Given the description of an element on the screen output the (x, y) to click on. 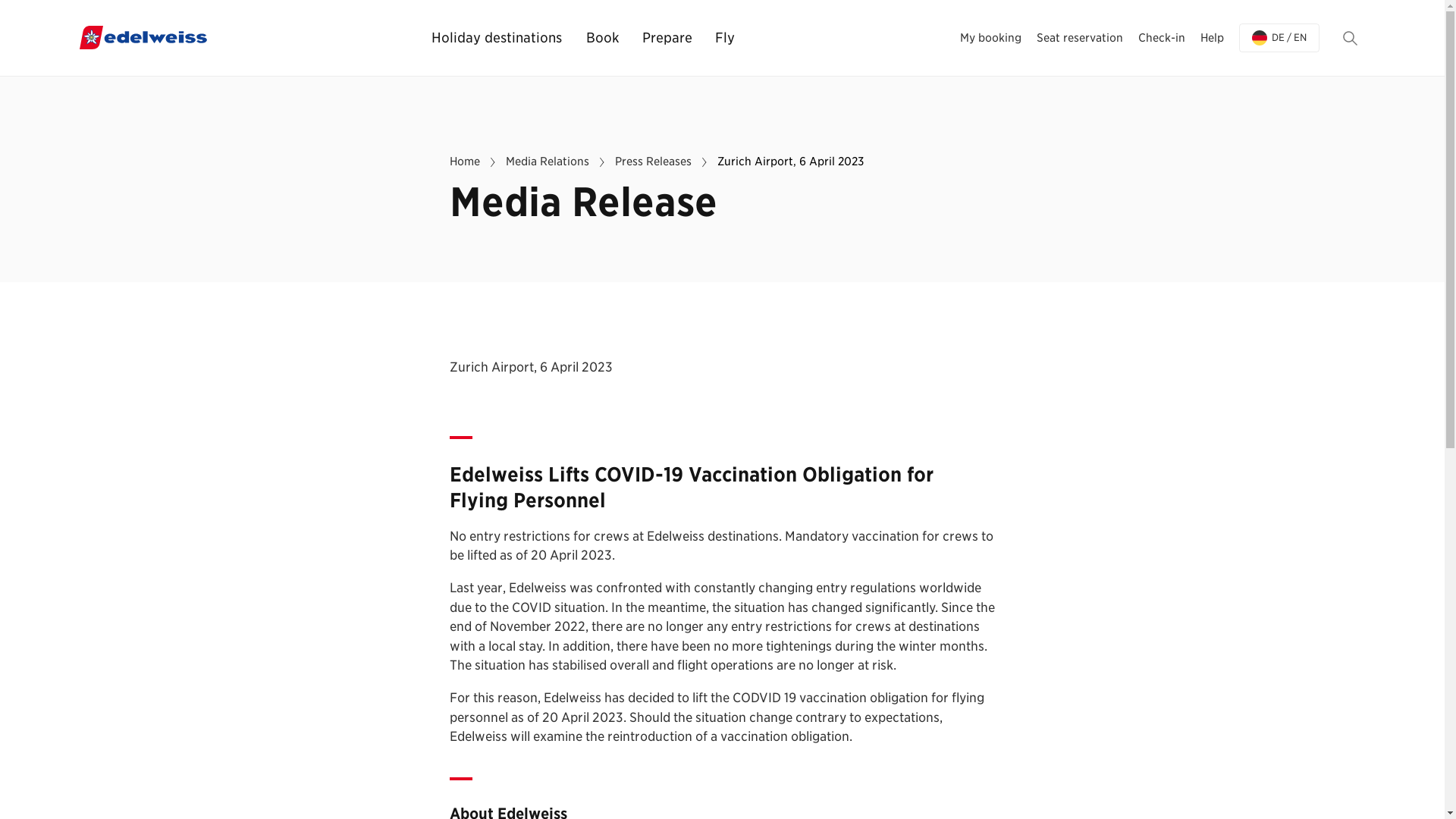
Book (603, 37)
Holiday destinations (496, 37)
My booking (990, 37)
Check-in (1161, 37)
Prepare (667, 37)
Help (1211, 37)
Search (1350, 37)
Edelweiss, Home (143, 37)
Seat reservation (1078, 37)
